Given the description of an element on the screen output the (x, y) to click on. 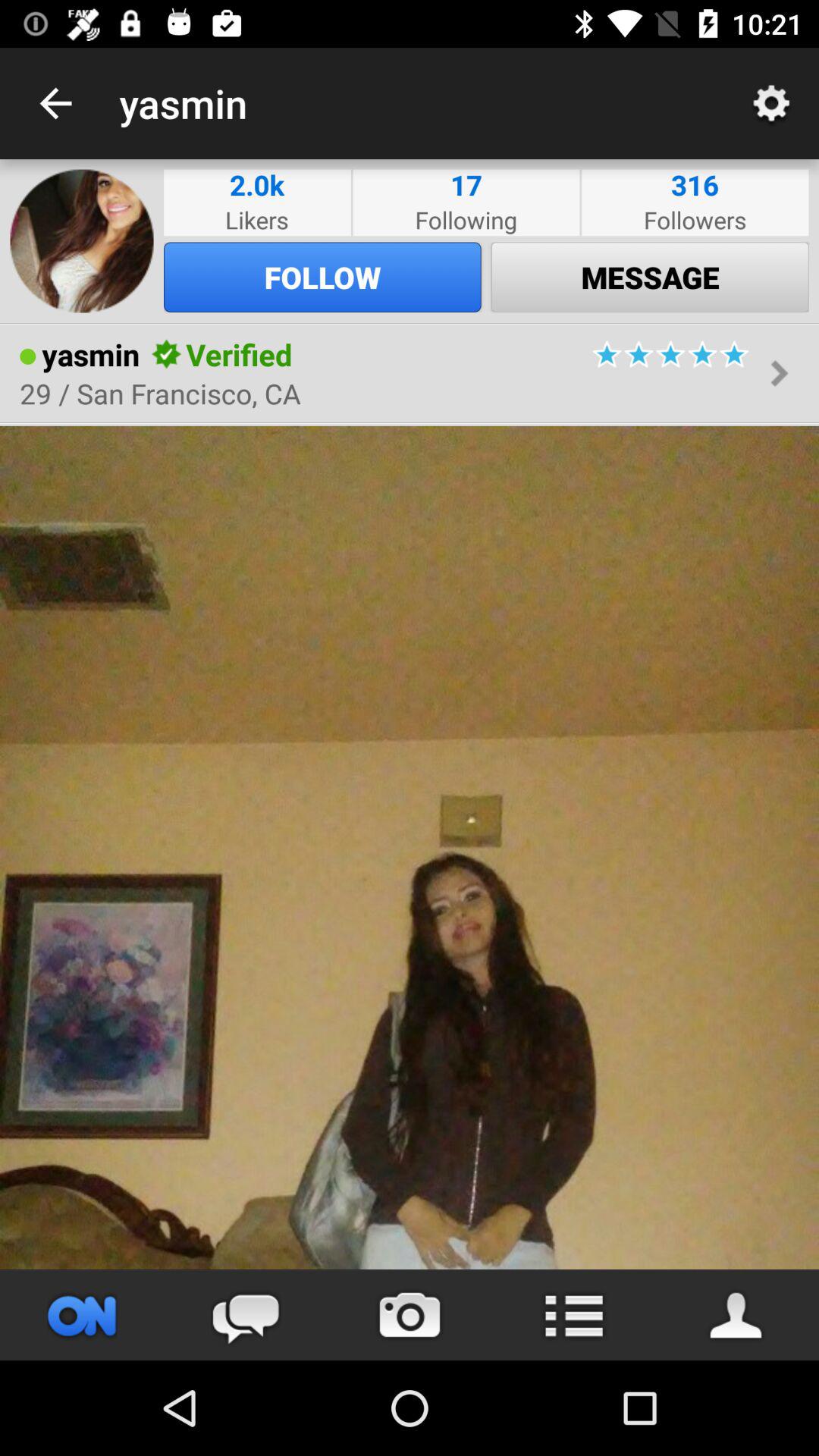
go to profile (737, 1315)
